Given the description of an element on the screen output the (x, y) to click on. 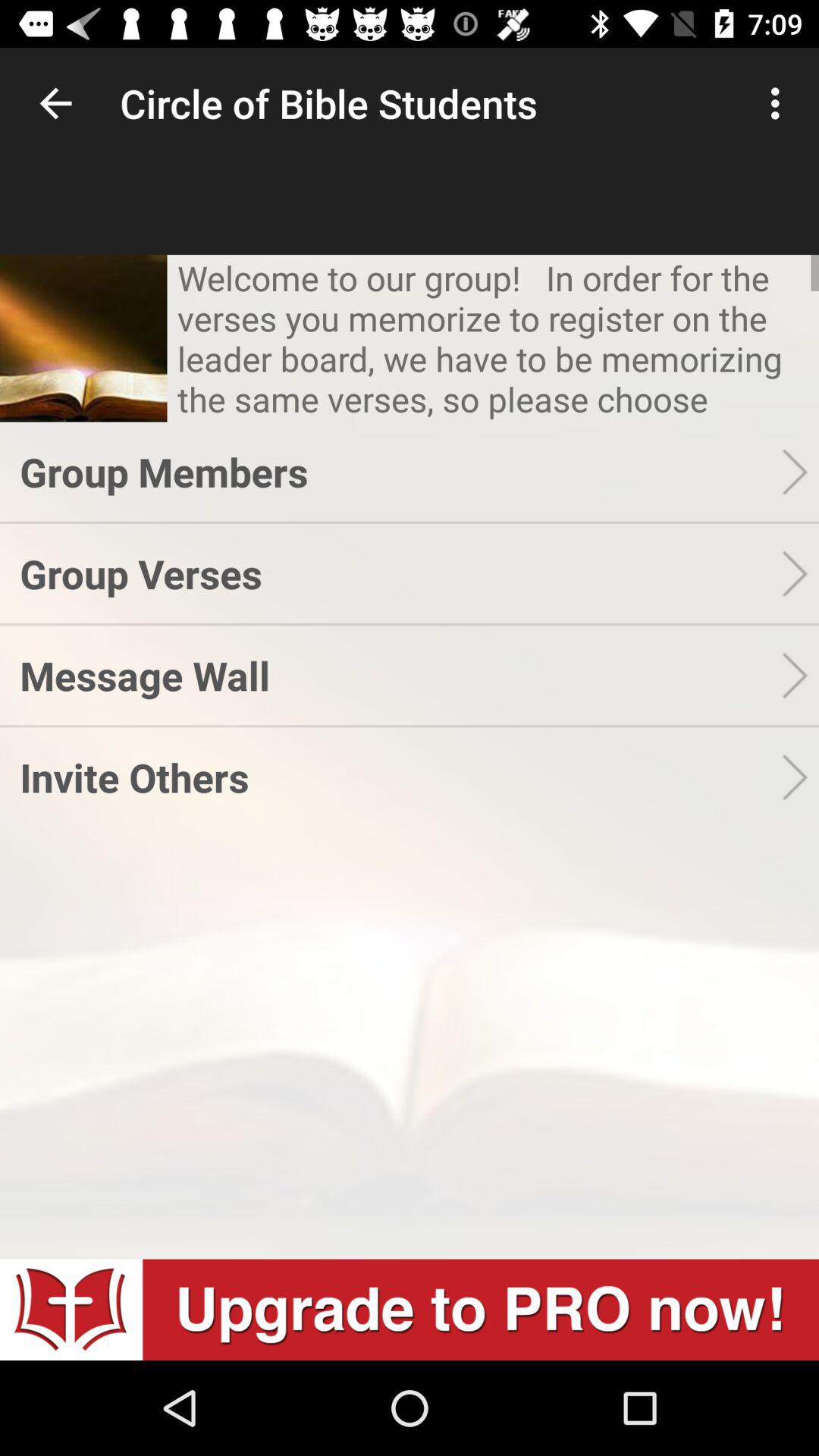
click invite others (399, 776)
